Given the description of an element on the screen output the (x, y) to click on. 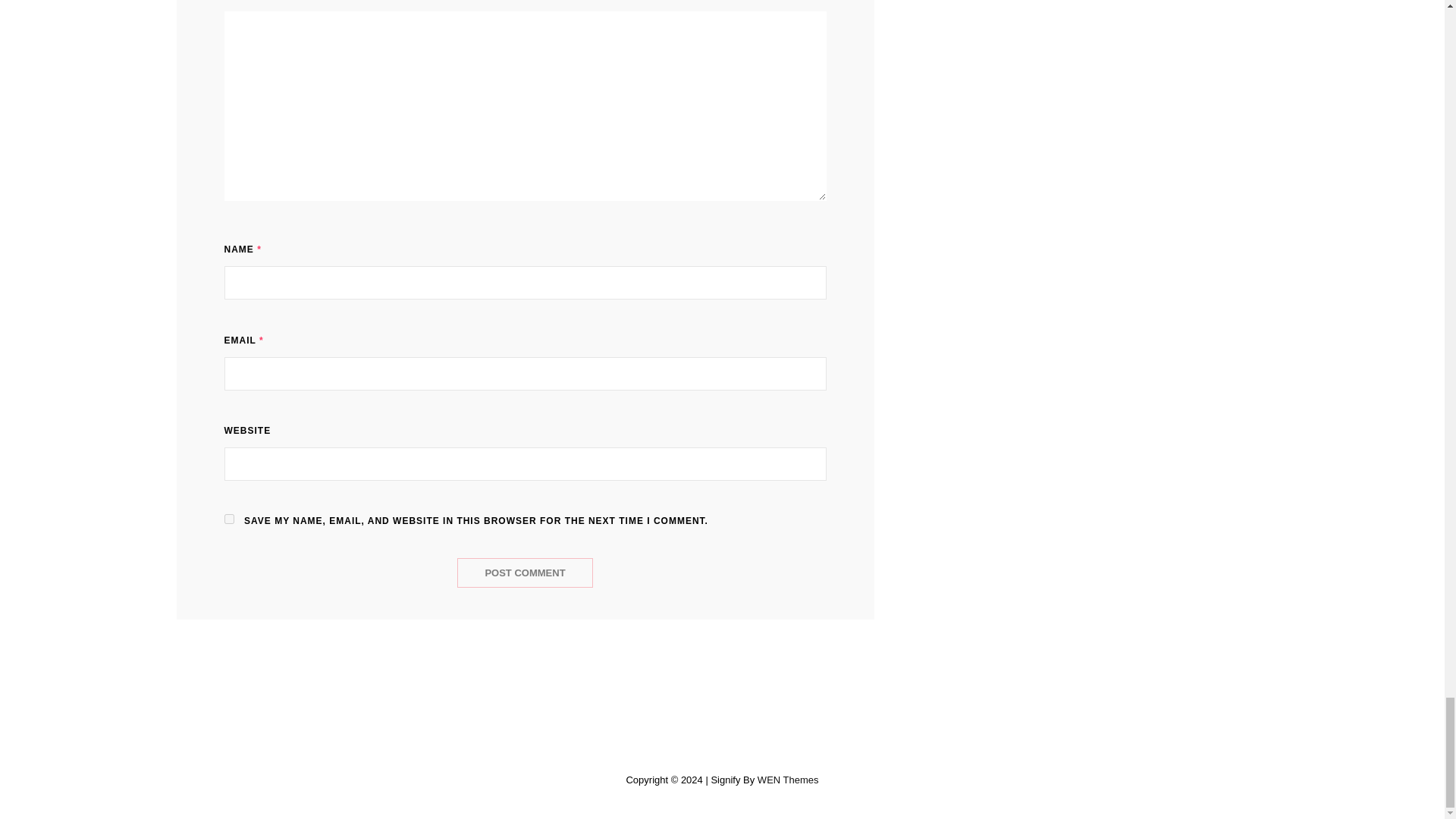
yes (229, 519)
Post Comment (524, 572)
Post Comment (524, 572)
